Given the description of an element on the screen output the (x, y) to click on. 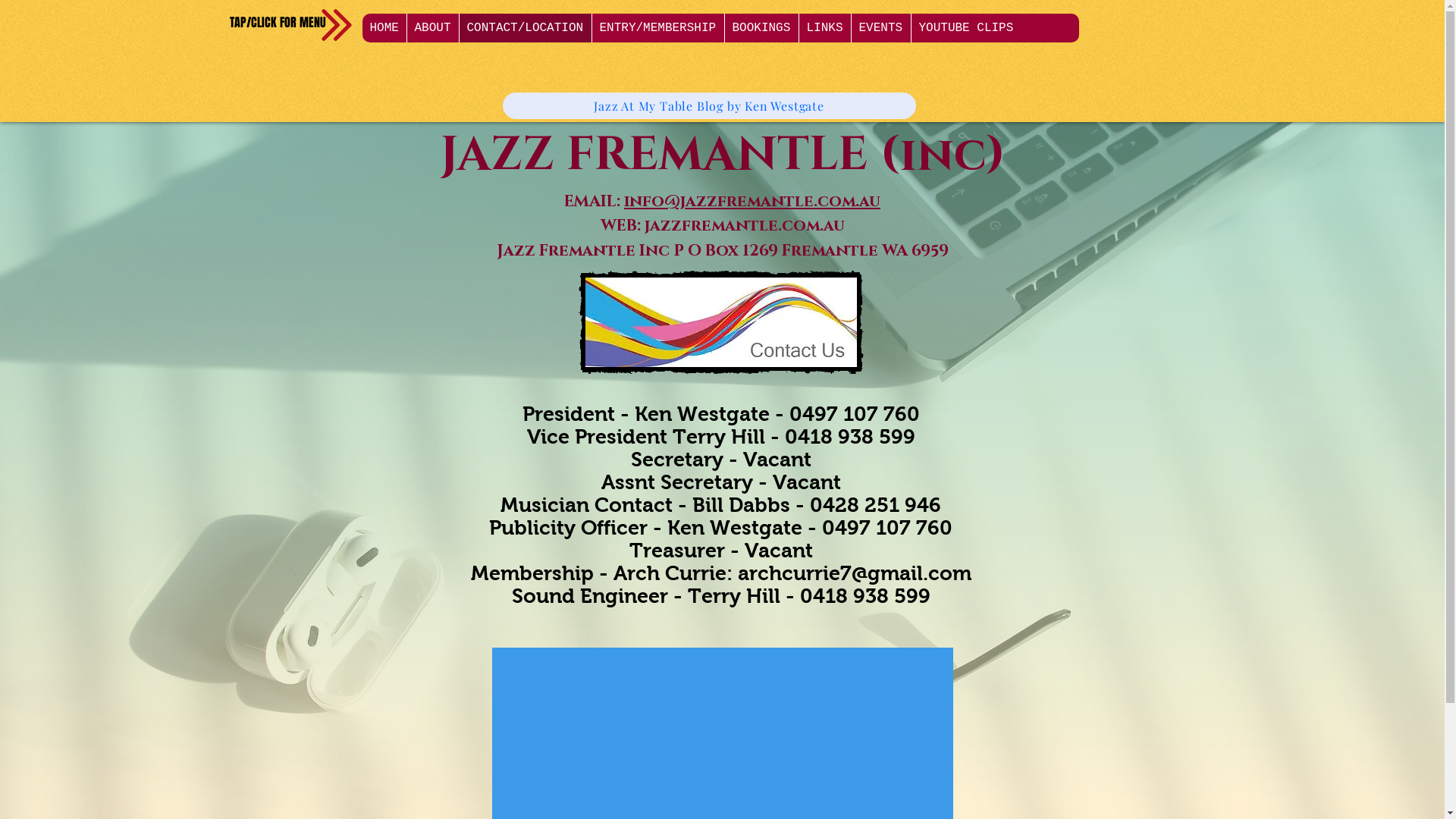
ENTRY/MEMBERSHIP Element type: text (657, 27)
LINKS Element type: text (823, 27)
Jazz At My Table Blog by Ken Westgate Element type: text (708, 105)
archcurrie7@gmail.com Element type: text (853, 572)
YOUTUBE CLIPS Element type: text (965, 27)
CONTACT/LOCATION Element type: text (524, 27)
ABOUT Element type: text (432, 27)
info@jazzfremantle.com.au Element type: text (752, 201)
EVENTS Element type: text (880, 27)
BOOKINGS Element type: text (760, 27)
Contact us.jpg Element type: hover (719, 321)
HOME Element type: text (384, 27)
